Given the description of an element on the screen output the (x, y) to click on. 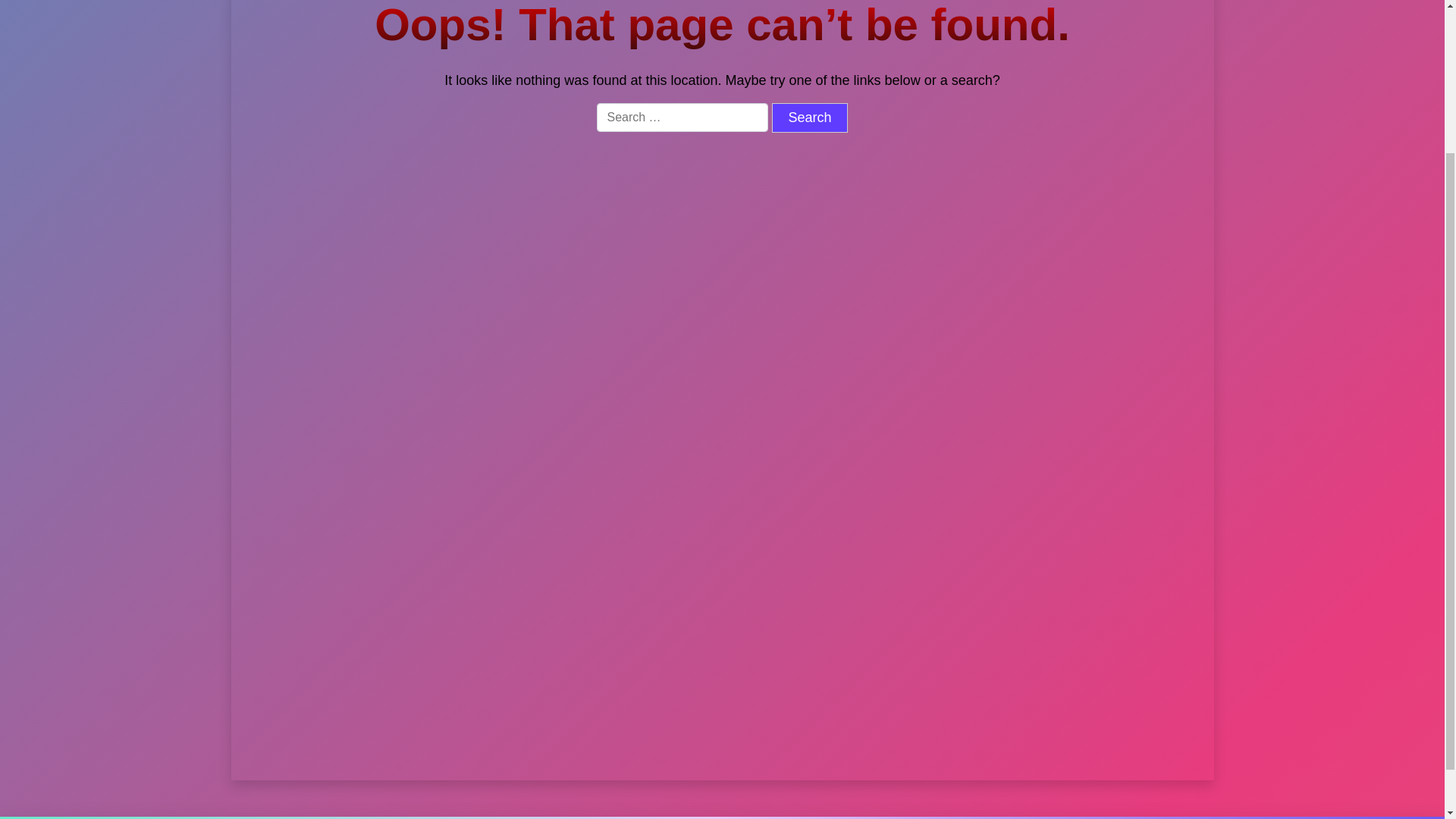
Search (809, 117)
Search (809, 117)
Search (809, 117)
Search (1026, 221)
